Given the description of an element on the screen output the (x, y) to click on. 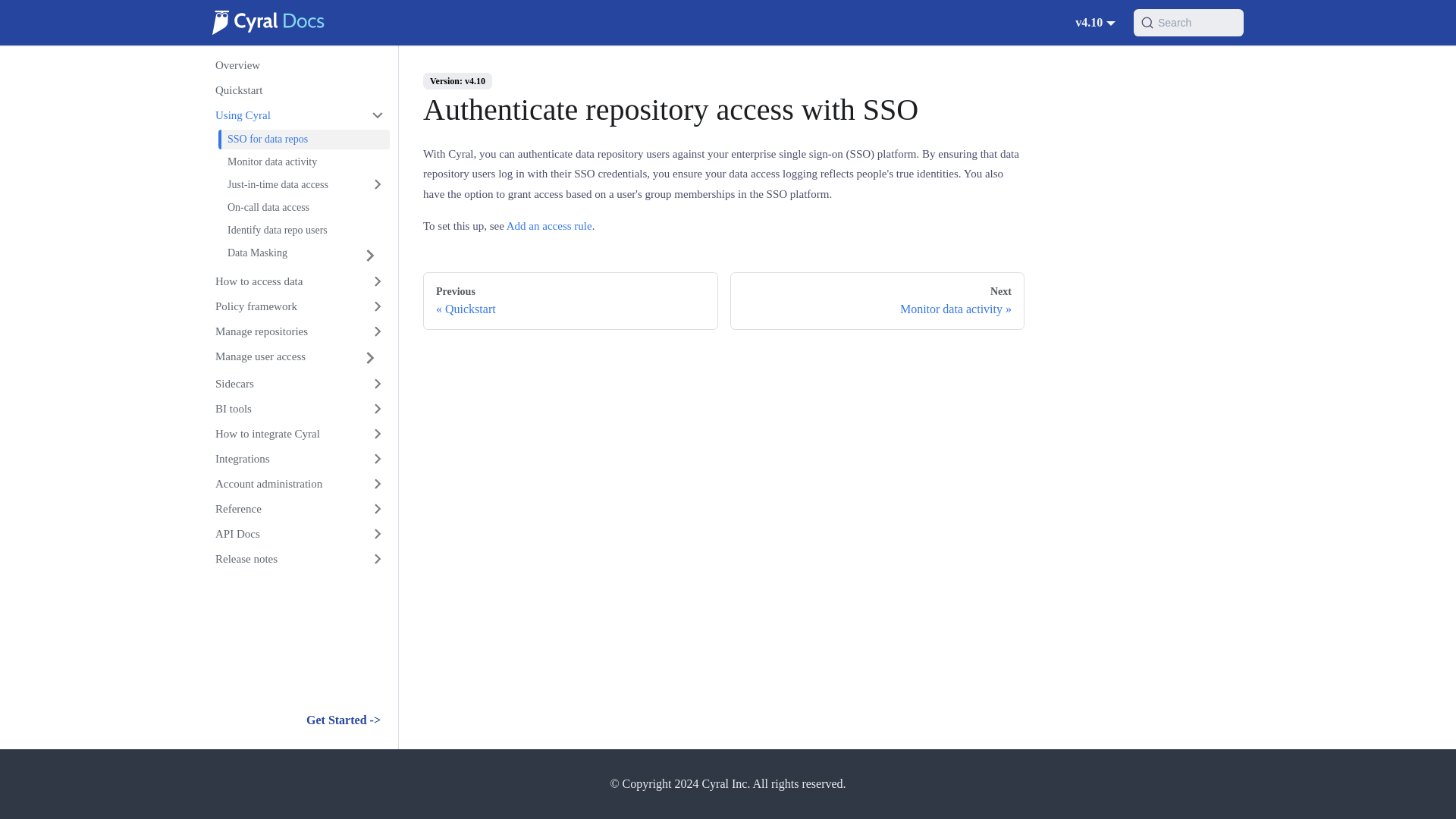
Overview (298, 65)
Data Masking (283, 254)
Just-in-time data access (304, 184)
Identify data repo users (304, 229)
Release notes (298, 558)
Using Cyral (298, 115)
Sidecars (298, 383)
Integrations (298, 458)
How to integrate Cyral (298, 434)
Manage user access (277, 357)
Policy framework (298, 306)
How to access data (298, 280)
Manage repositories (298, 331)
Account administration (298, 484)
